Given the description of an element on the screen output the (x, y) to click on. 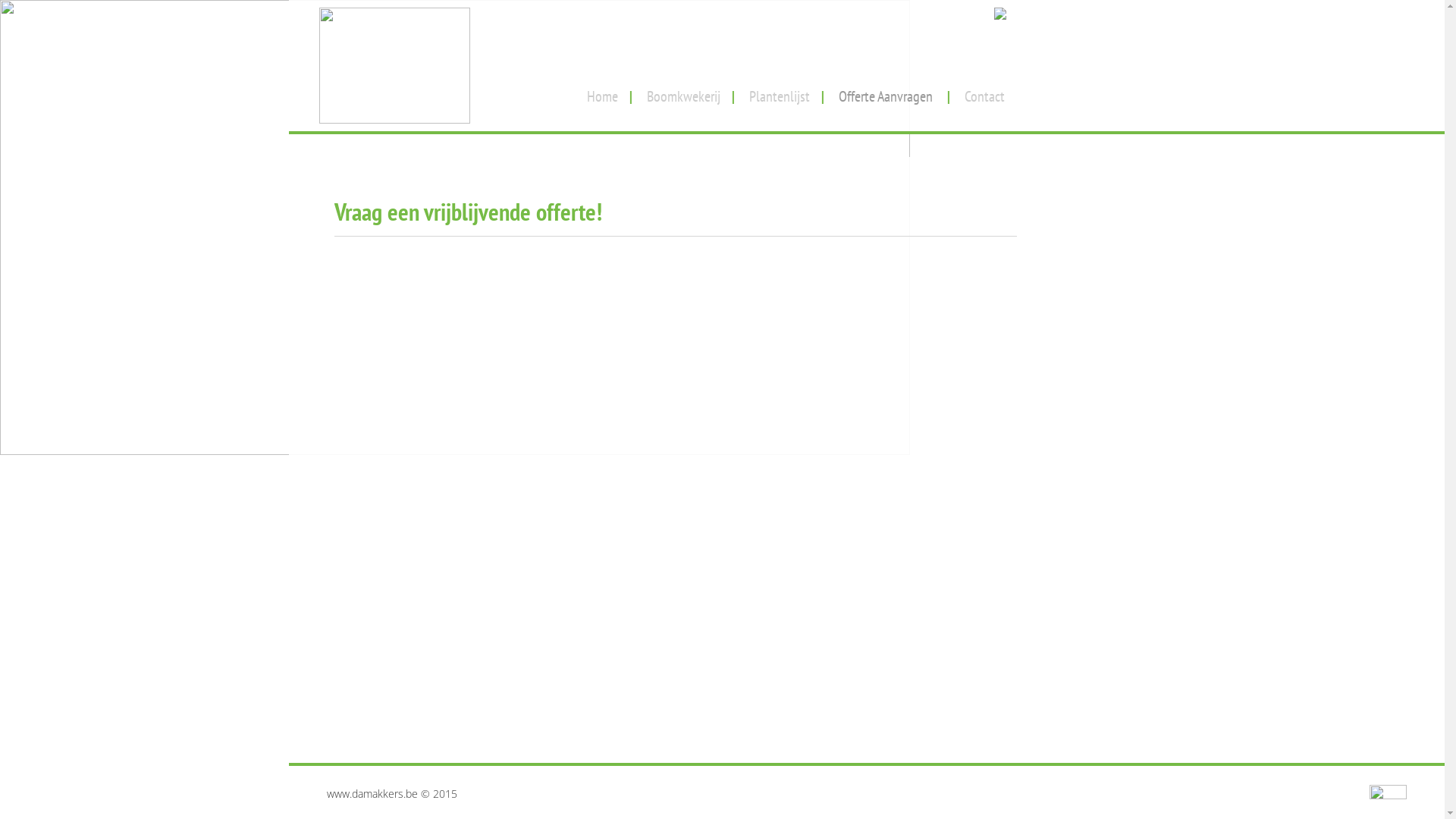
Plantenlijst Element type: text (779, 90)
Contact Element type: text (984, 90)
Boomkwekerij Element type: text (683, 90)
Offerte Aanvragen Element type: text (885, 90)
Home Element type: text (602, 90)
